Given the description of an element on the screen output the (x, y) to click on. 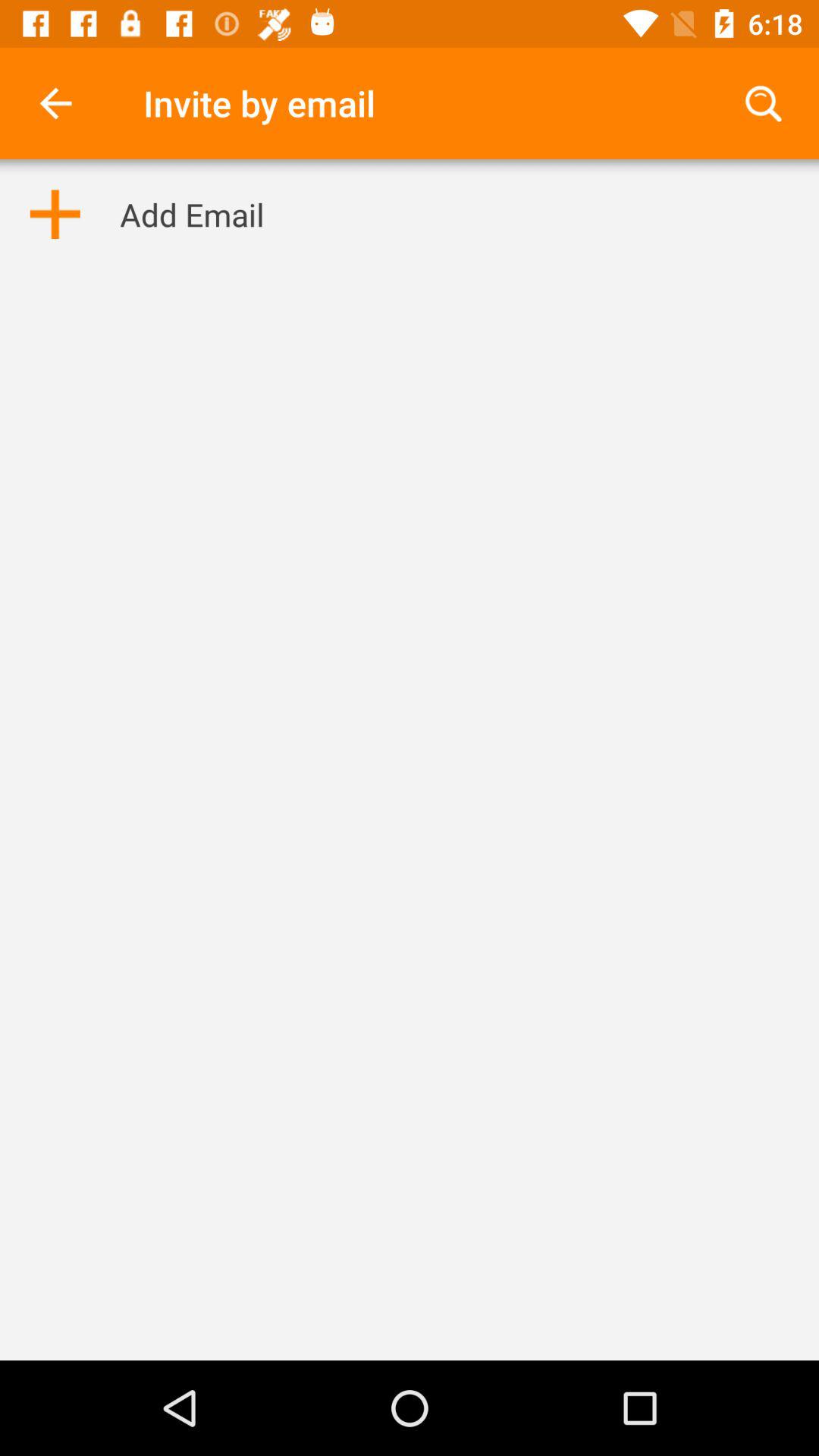
turn on icon to the left of the add email (55, 214)
